Given the description of an element on the screen output the (x, y) to click on. 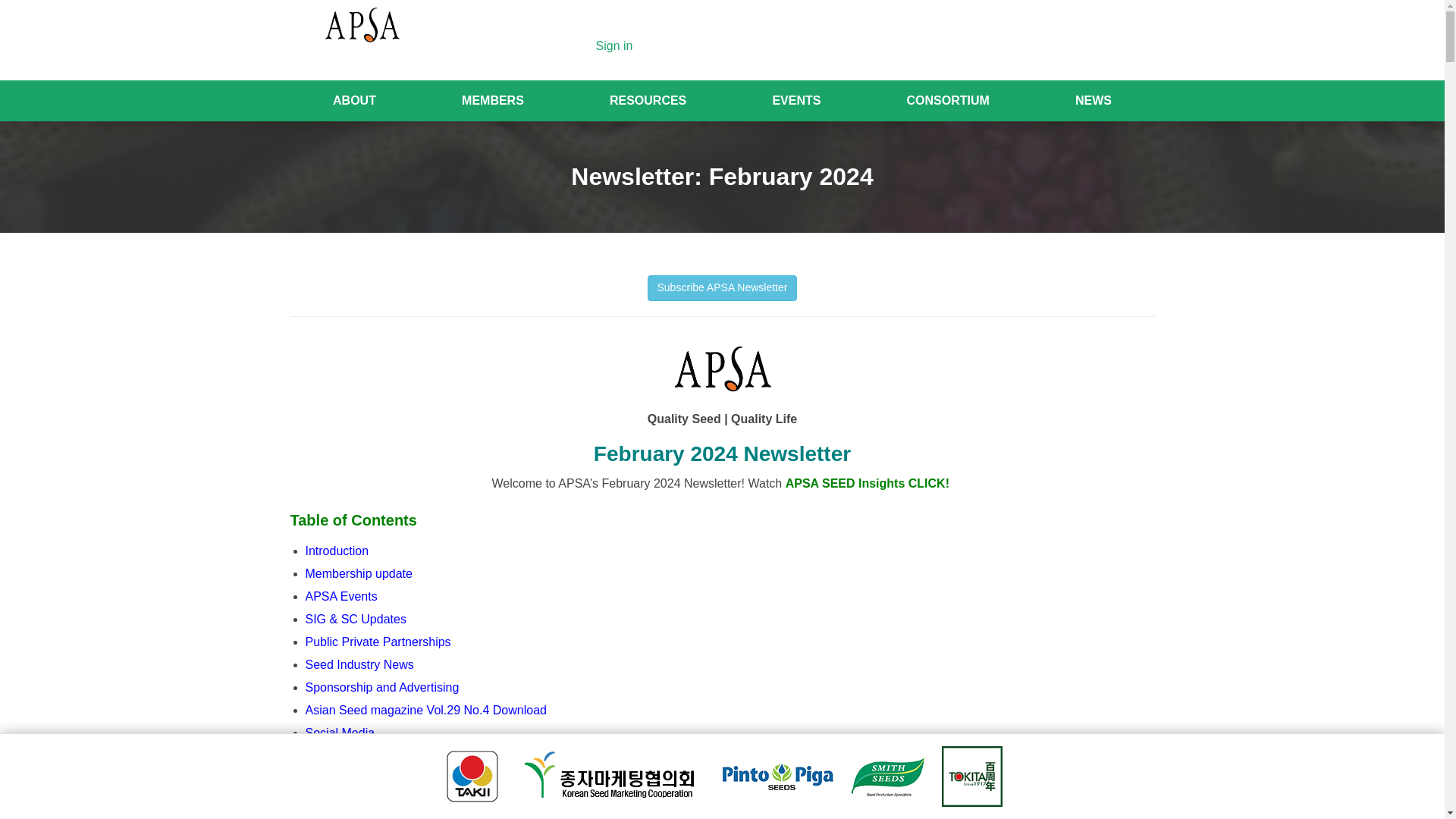
CONSORTIUM (947, 100)
Sign in (614, 45)
MEMBERS (492, 100)
About (354, 100)
Sign in (614, 45)
RESOURCES (647, 100)
ABOUT (354, 100)
Members (492, 100)
Resources (647, 100)
EVENTS (796, 100)
